Given the description of an element on the screen output the (x, y) to click on. 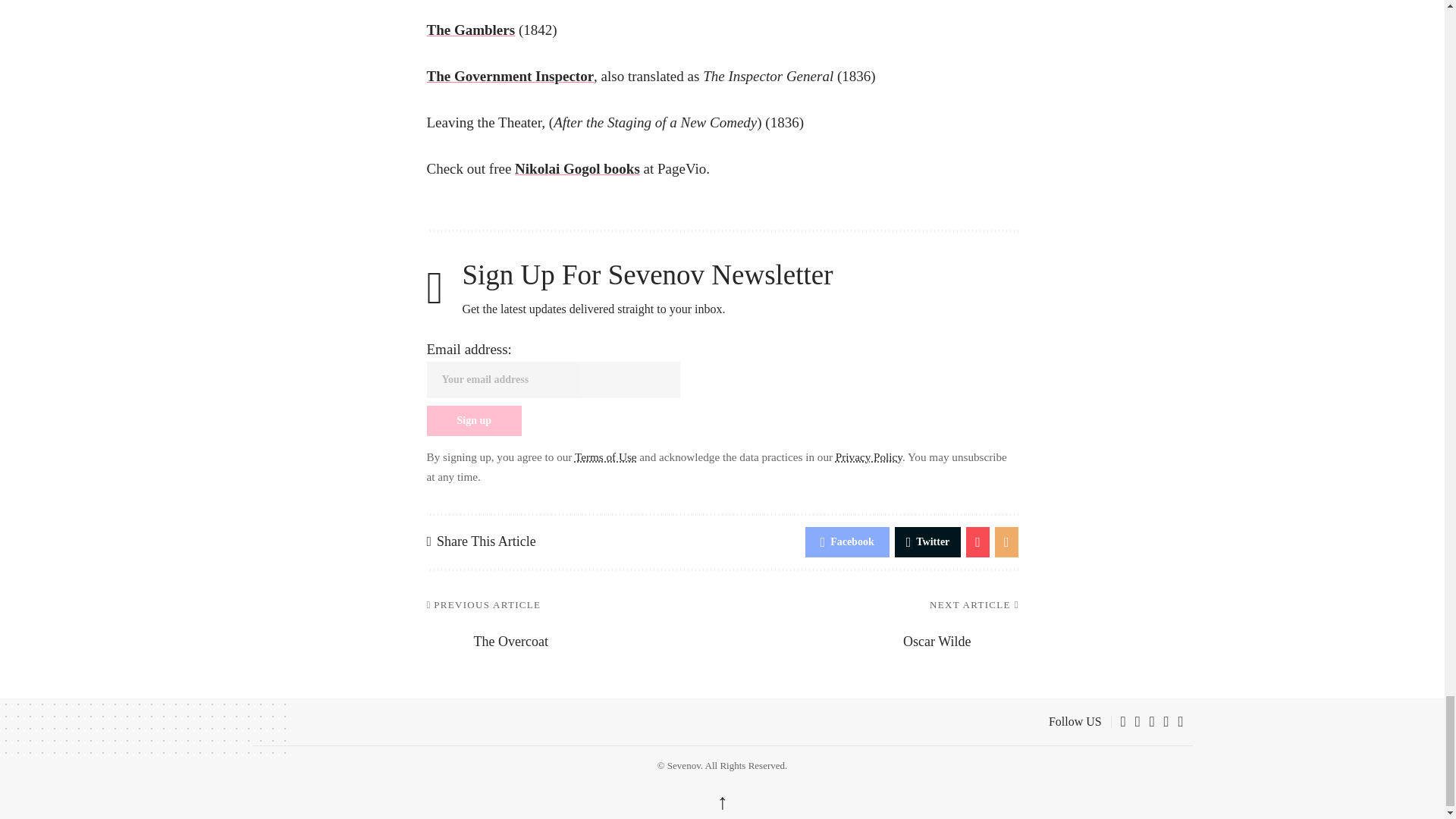
Sign up (473, 420)
